Given the description of an element on the screen output the (x, y) to click on. 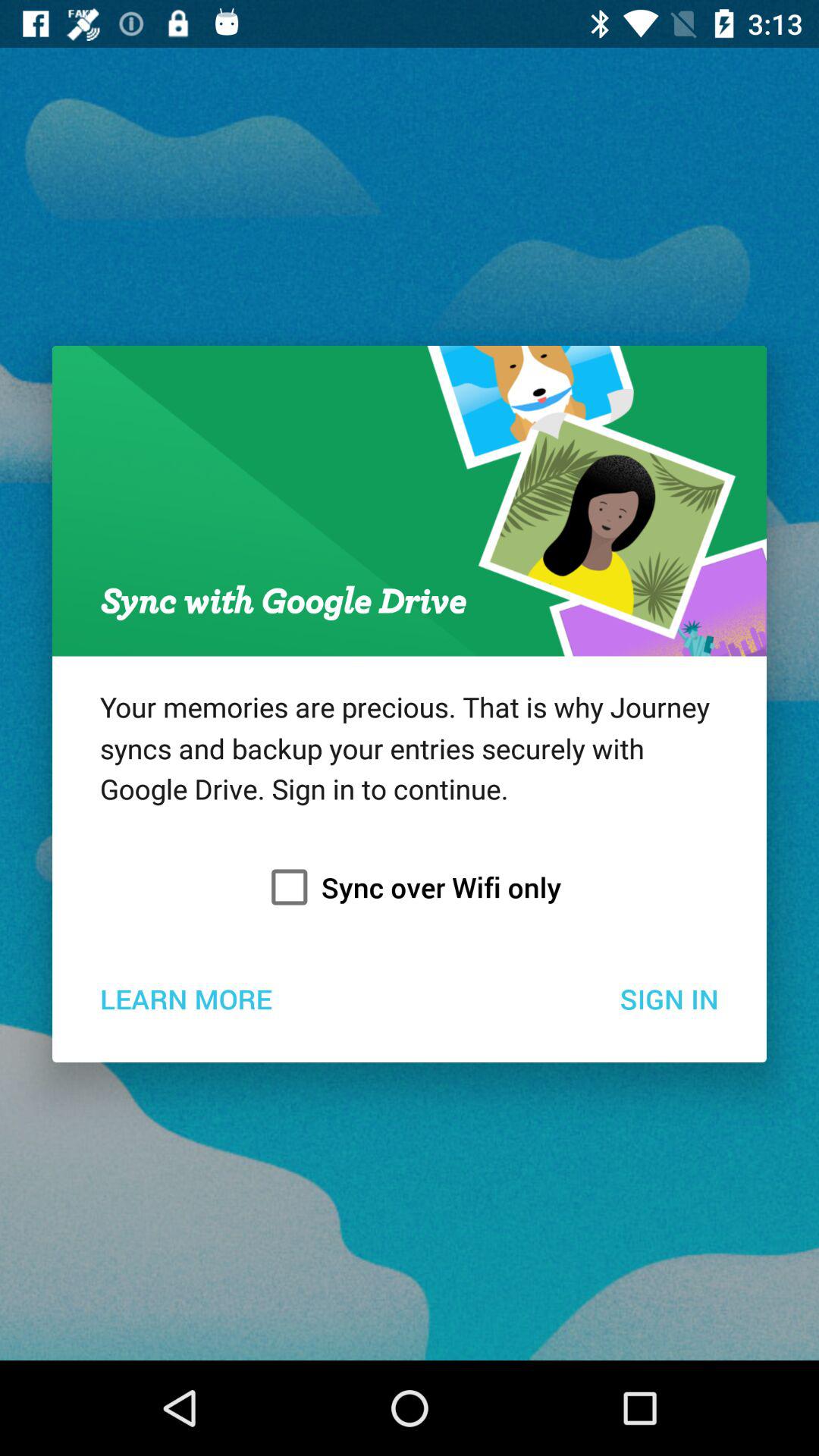
press the sync over wifi item (409, 887)
